Given the description of an element on the screen output the (x, y) to click on. 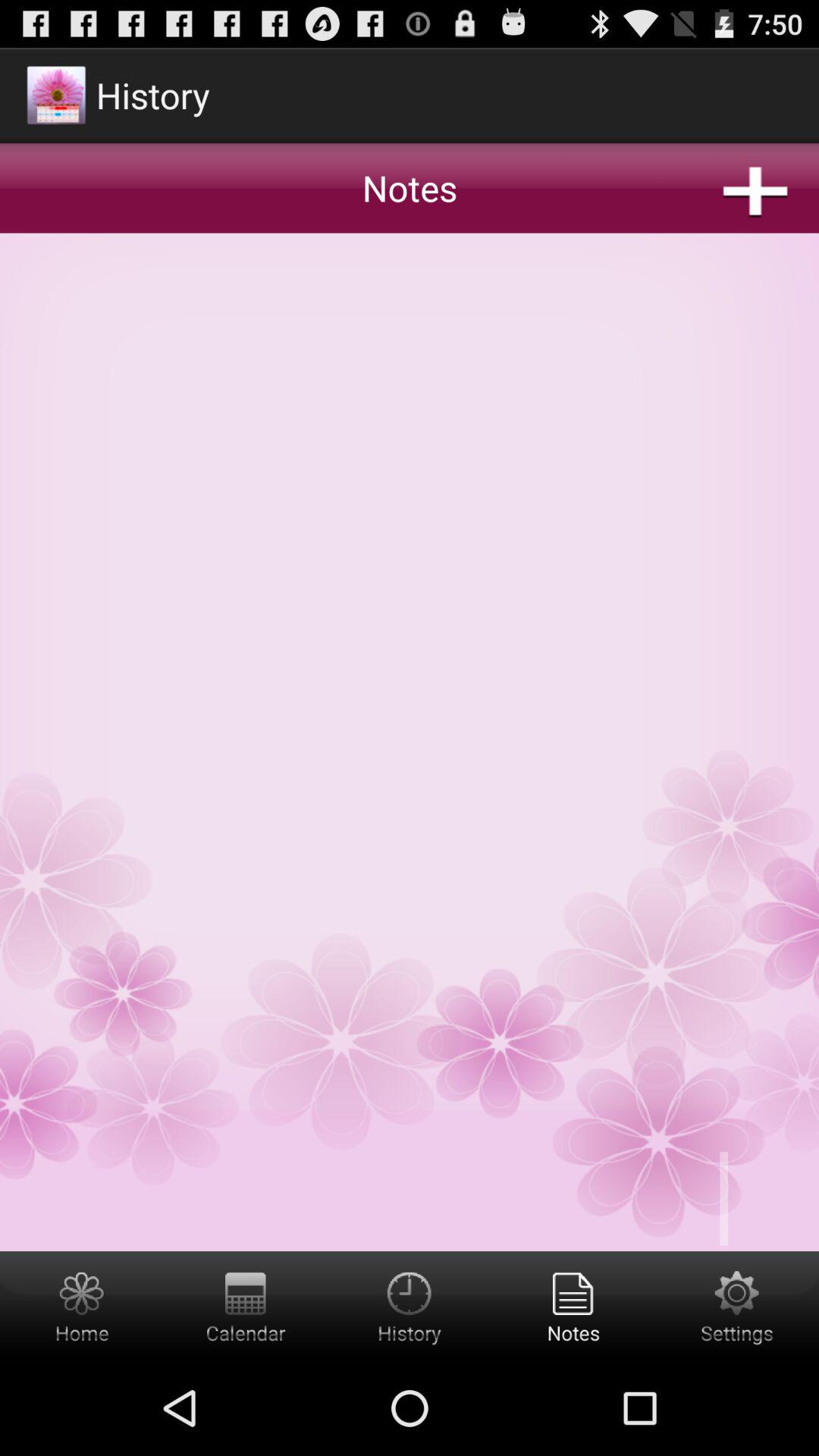
history (409, 1305)
